Given the description of an element on the screen output the (x, y) to click on. 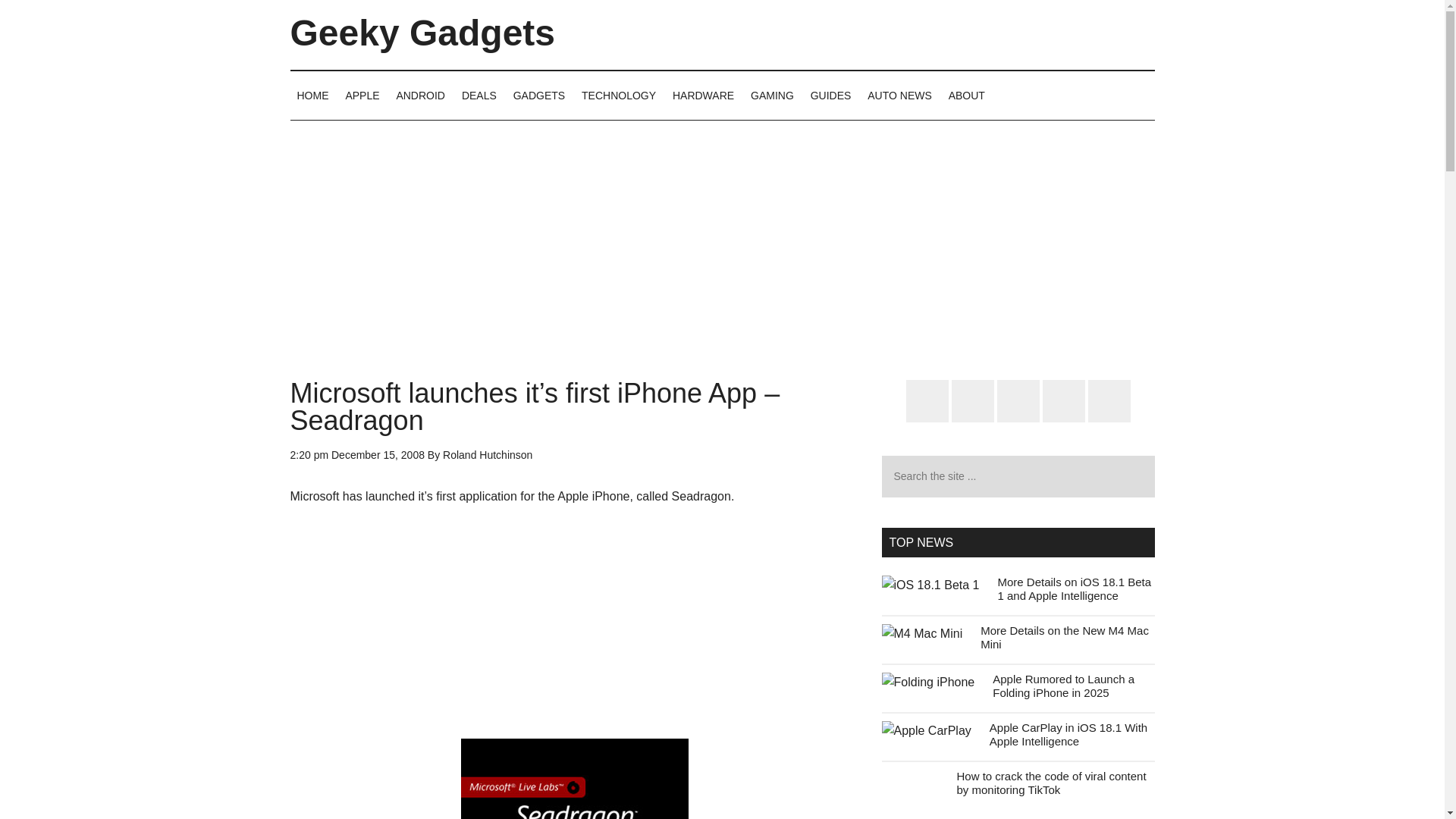
More Details on the New M4 Mac Mini (1063, 637)
GUIDES (831, 95)
About Geeky Gadgets (966, 95)
Apple Rumored to Launch a Folding iPhone in 2025 (1063, 685)
seadragon-iphone (574, 778)
DEALS (478, 95)
TECHNOLOGY (618, 95)
HOME (311, 95)
ABOUT (966, 95)
Geeky Gadgets (421, 33)
Roland Hutchinson (487, 454)
GADGETS (539, 95)
